Given the description of an element on the screen output the (x, y) to click on. 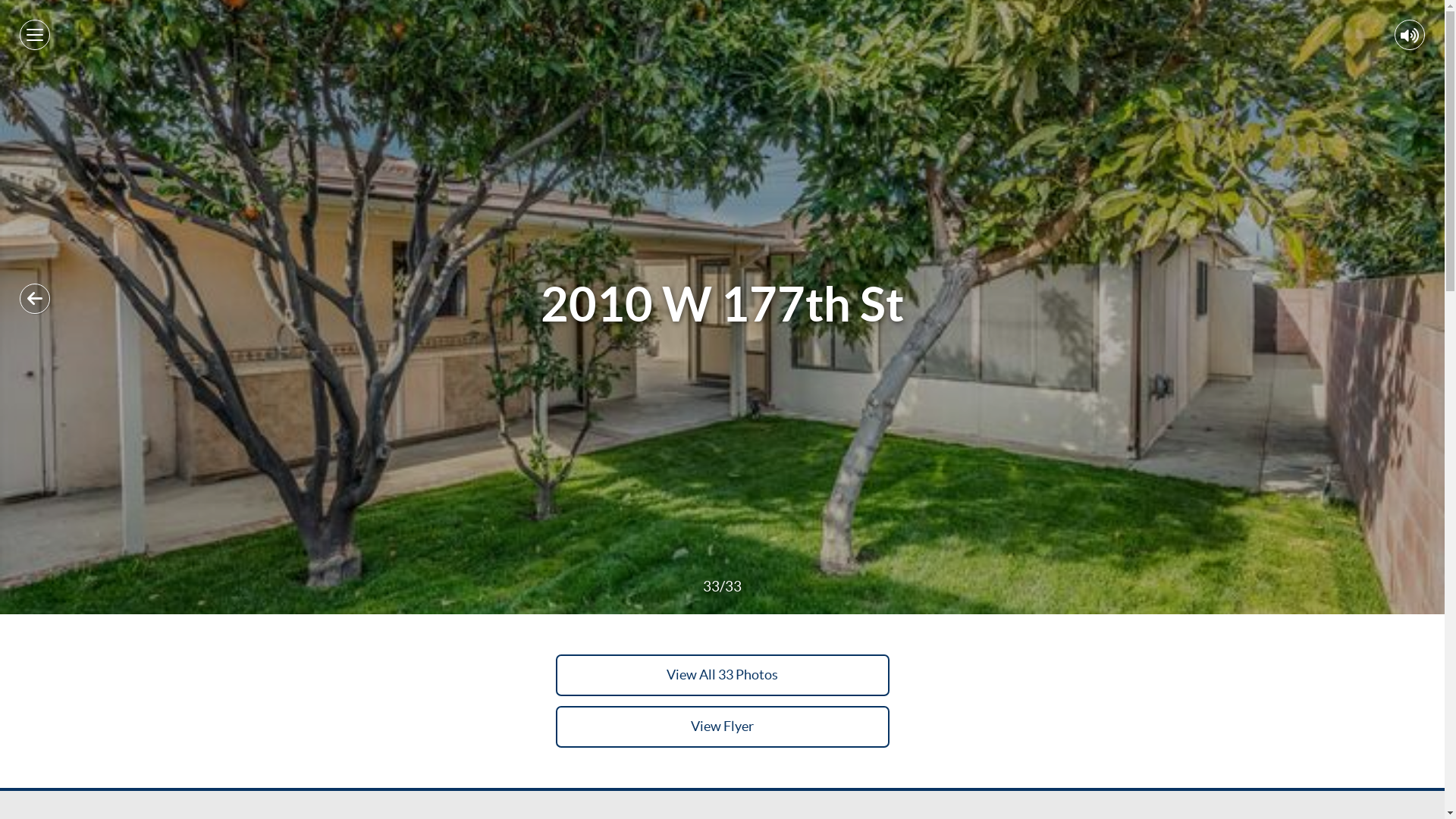
View Flyer Element type: text (721, 726)
